Given the description of an element on the screen output the (x, y) to click on. 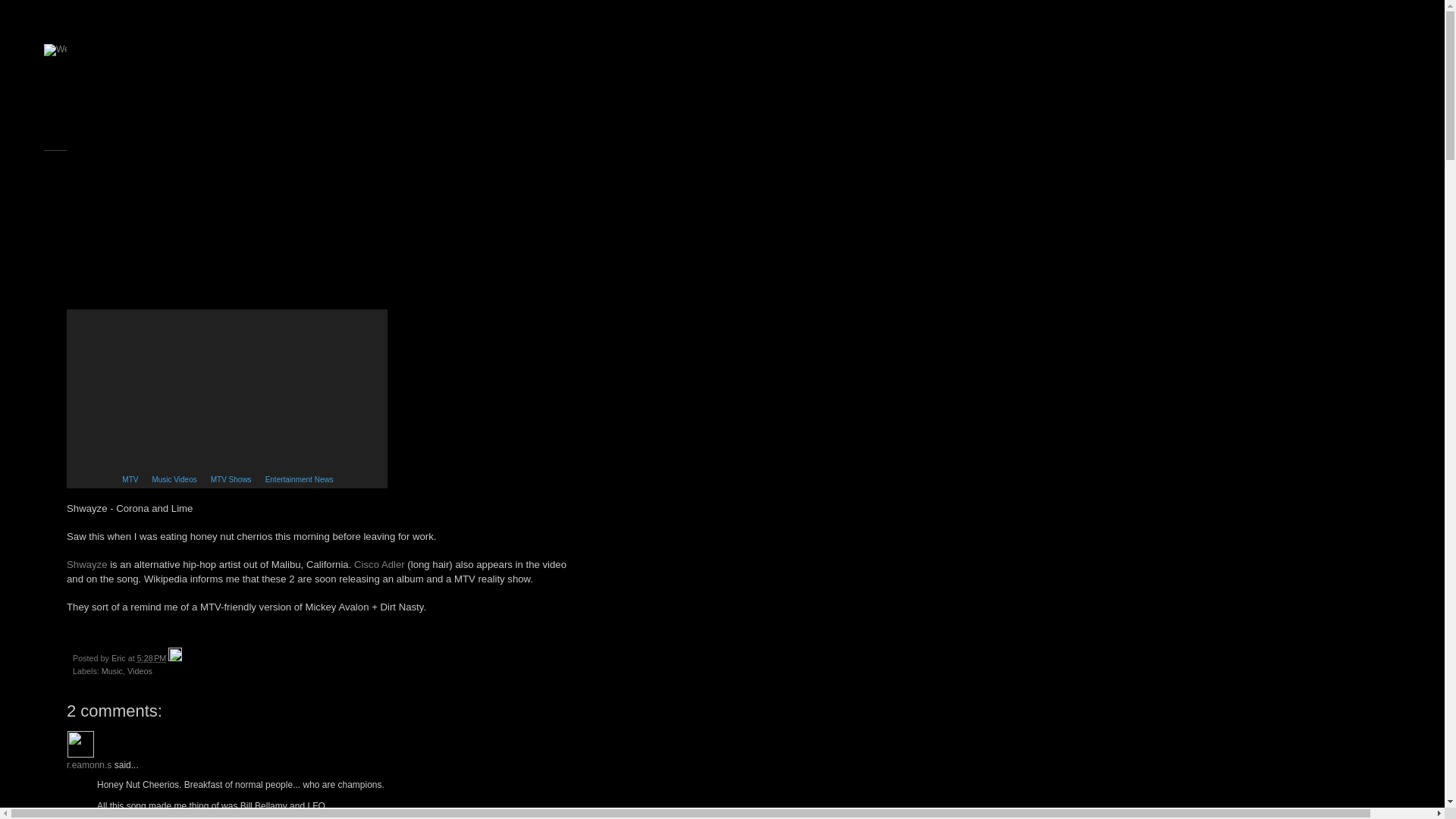
Shwayze (86, 564)
Eric (120, 657)
Edit Post (175, 657)
MTV (128, 479)
Entertainment News (296, 479)
author profile (120, 657)
MTV Shows (228, 479)
Music (111, 670)
r.eamonn.s (80, 744)
permanent link (151, 657)
Videos (140, 670)
Music Videos (171, 479)
r.eamonn.s (89, 765)
Cisco Adler (378, 564)
